Given the description of an element on the screen output the (x, y) to click on. 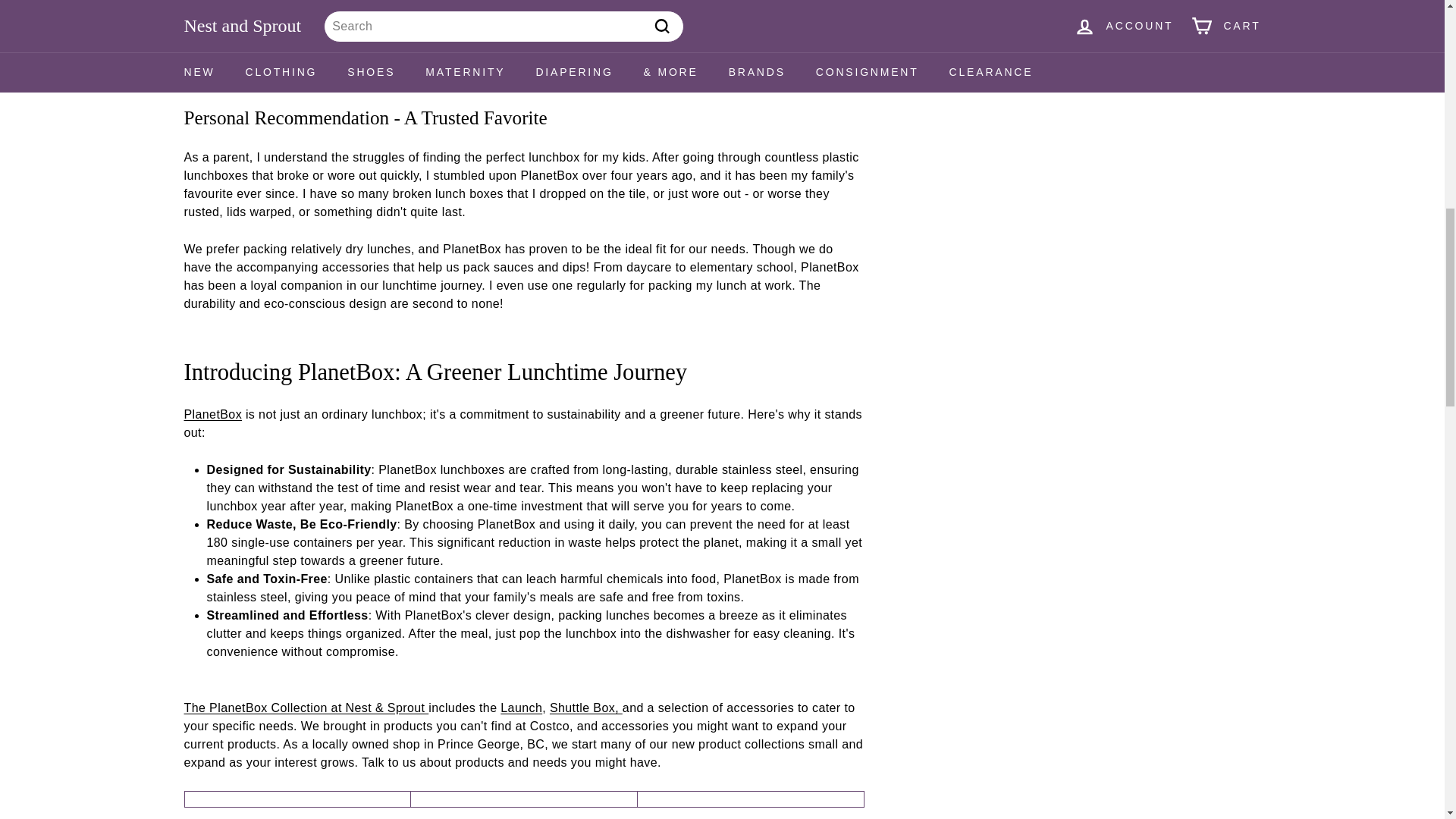
Shop Planetbox in Canada (305, 707)
Learn more about Planetbox (212, 2)
Shop Planetbox in Canada (212, 413)
